Given the description of an element on the screen output the (x, y) to click on. 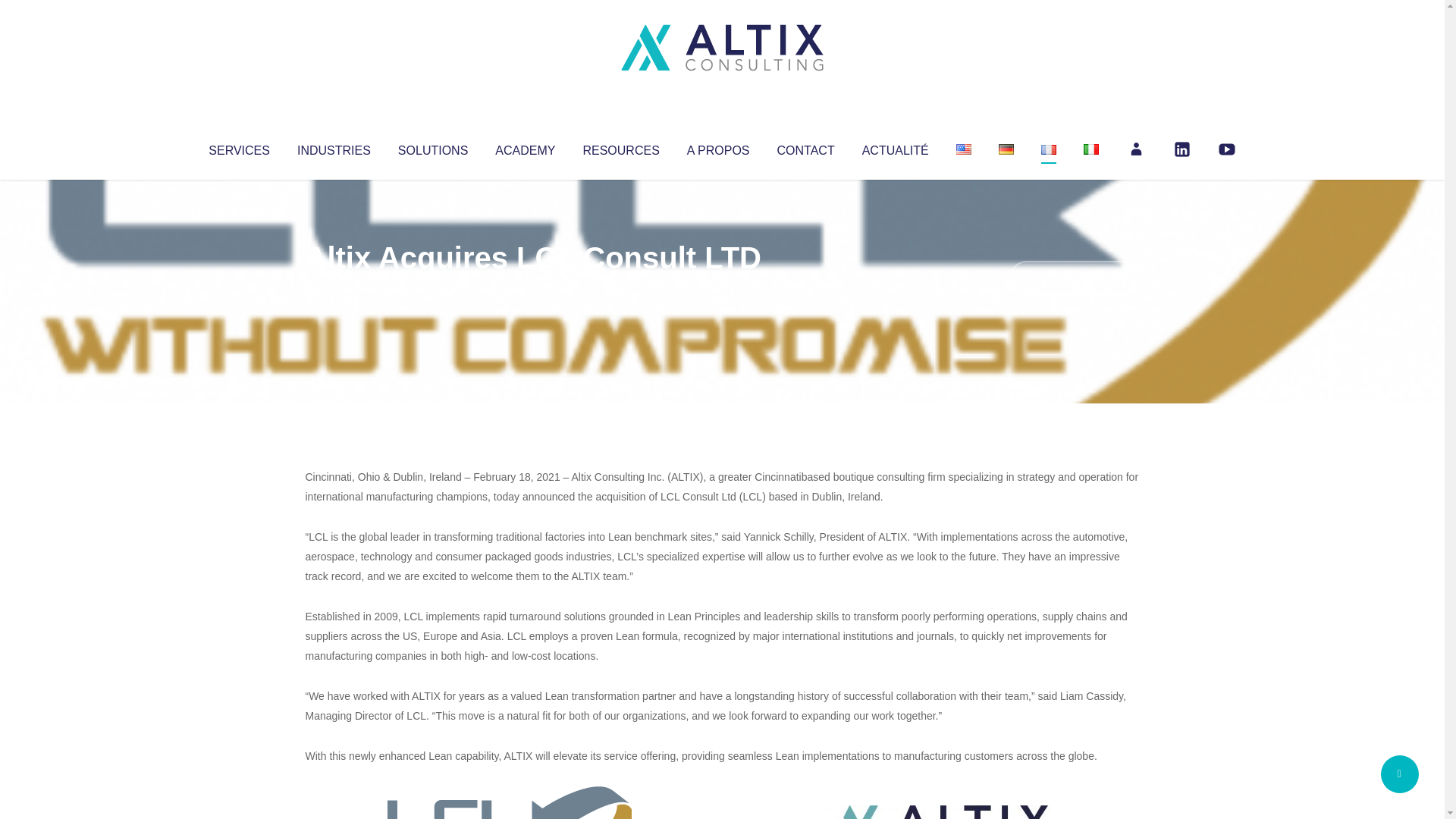
SERVICES (238, 146)
No Comments (1073, 278)
ACADEMY (524, 146)
RESOURCES (620, 146)
INDUSTRIES (334, 146)
Uncategorized (530, 287)
Articles par Altix (333, 287)
SOLUTIONS (432, 146)
A PROPOS (718, 146)
Altix (333, 287)
